Given the description of an element on the screen output the (x, y) to click on. 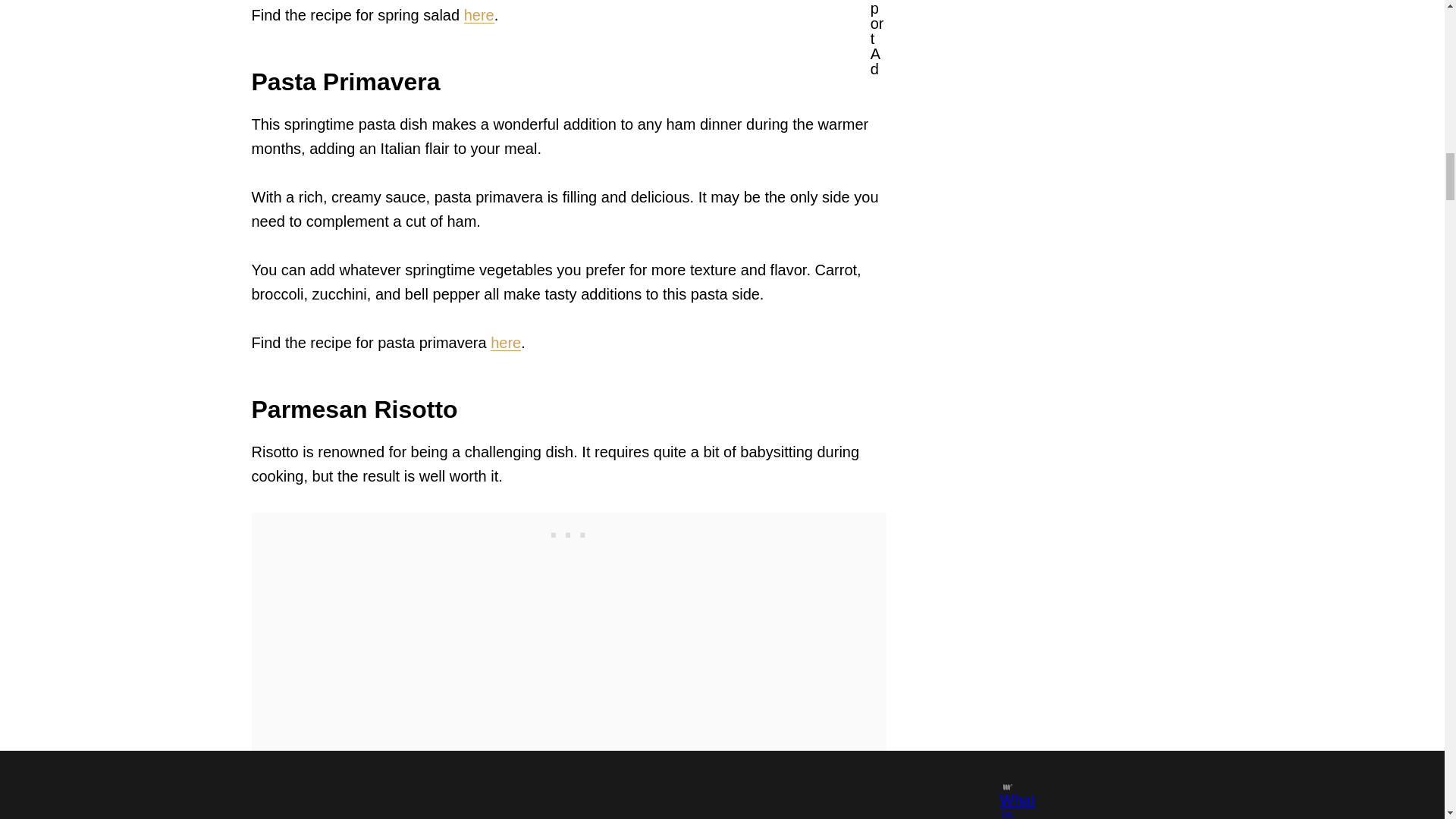
3rd party ad content (568, 531)
